Given the description of an element on the screen output the (x, y) to click on. 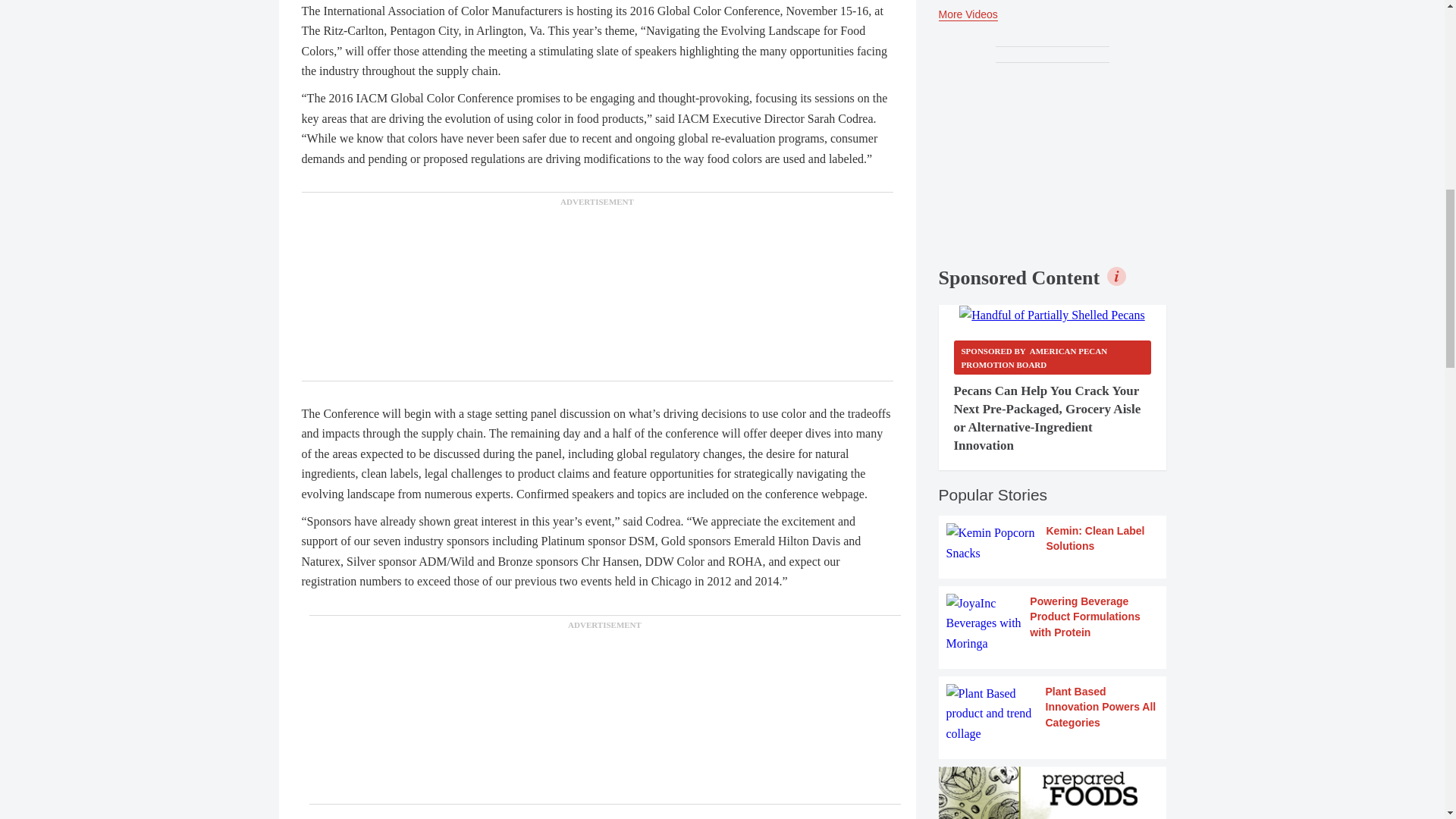
Sponsored by American Pecan Promotion Board (1052, 357)
Kemin: Clean Label Solutions (1052, 543)
Powering Beverage Product Formulations with Protein (1052, 623)
Plant Based Innovation Powers All Categories (1052, 713)
Handful of Partially Shelled Pecans (1051, 315)
